Given the description of an element on the screen output the (x, y) to click on. 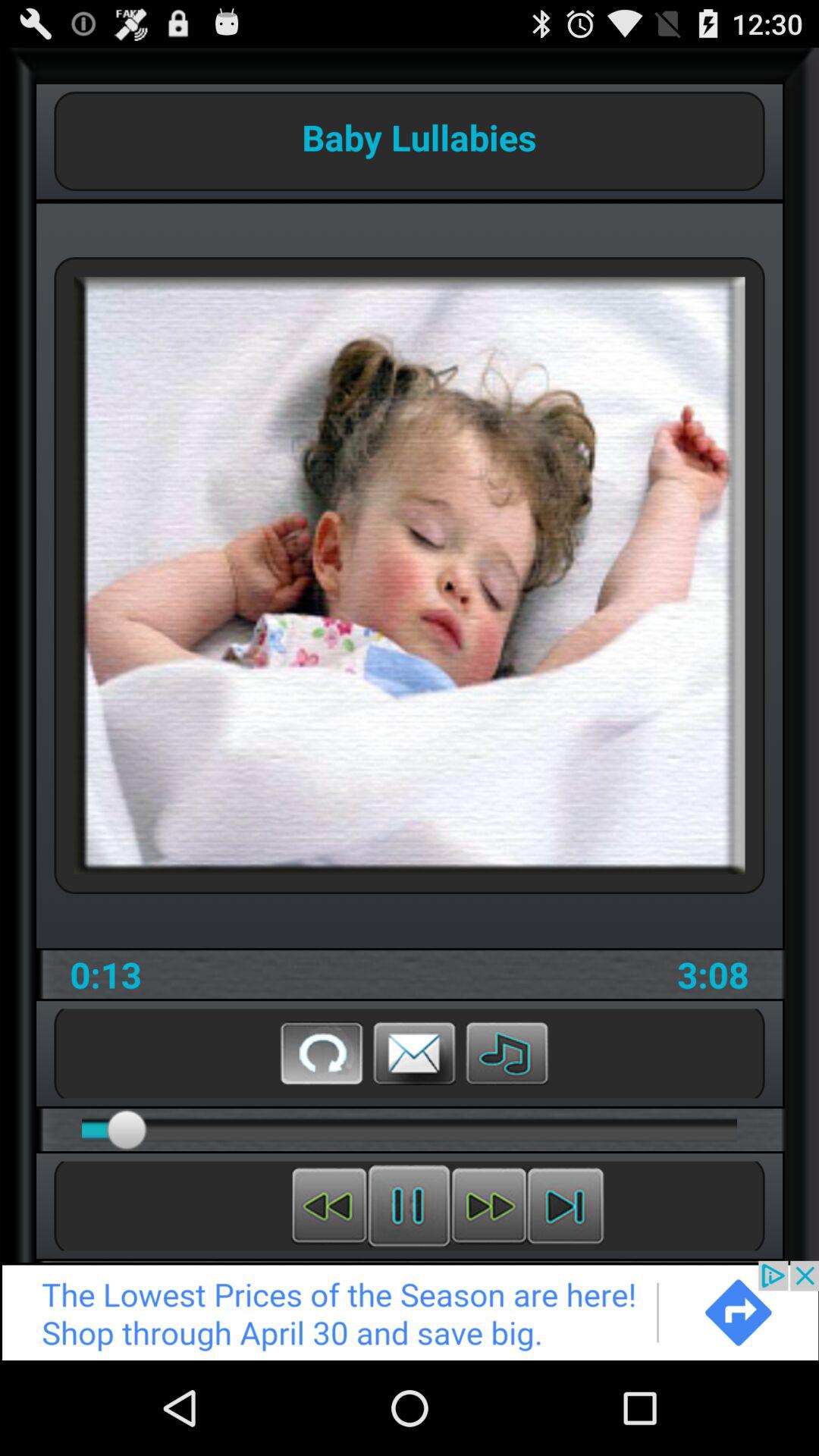
e mail option (414, 1053)
